Given the description of an element on the screen output the (x, y) to click on. 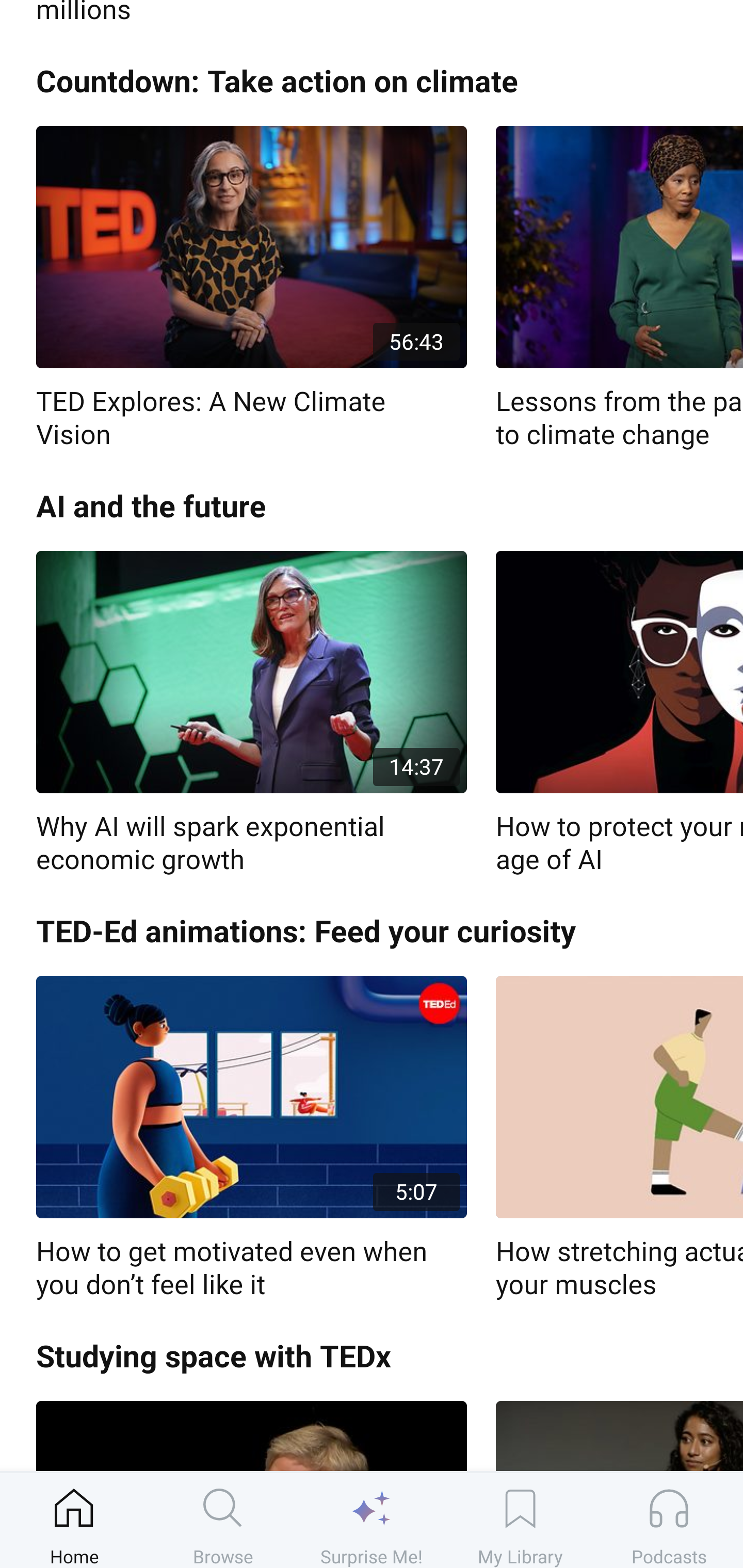
56:43 TED Explores: A New Climate Vision (251, 288)
How to protect your rights in the age of AI (619, 713)
How stretching actually changes your muscles (619, 1138)
Home (74, 1520)
Browse (222, 1520)
Surprise Me! (371, 1520)
My Library (519, 1520)
Podcasts (668, 1520)
